Given the description of an element on the screen output the (x, y) to click on. 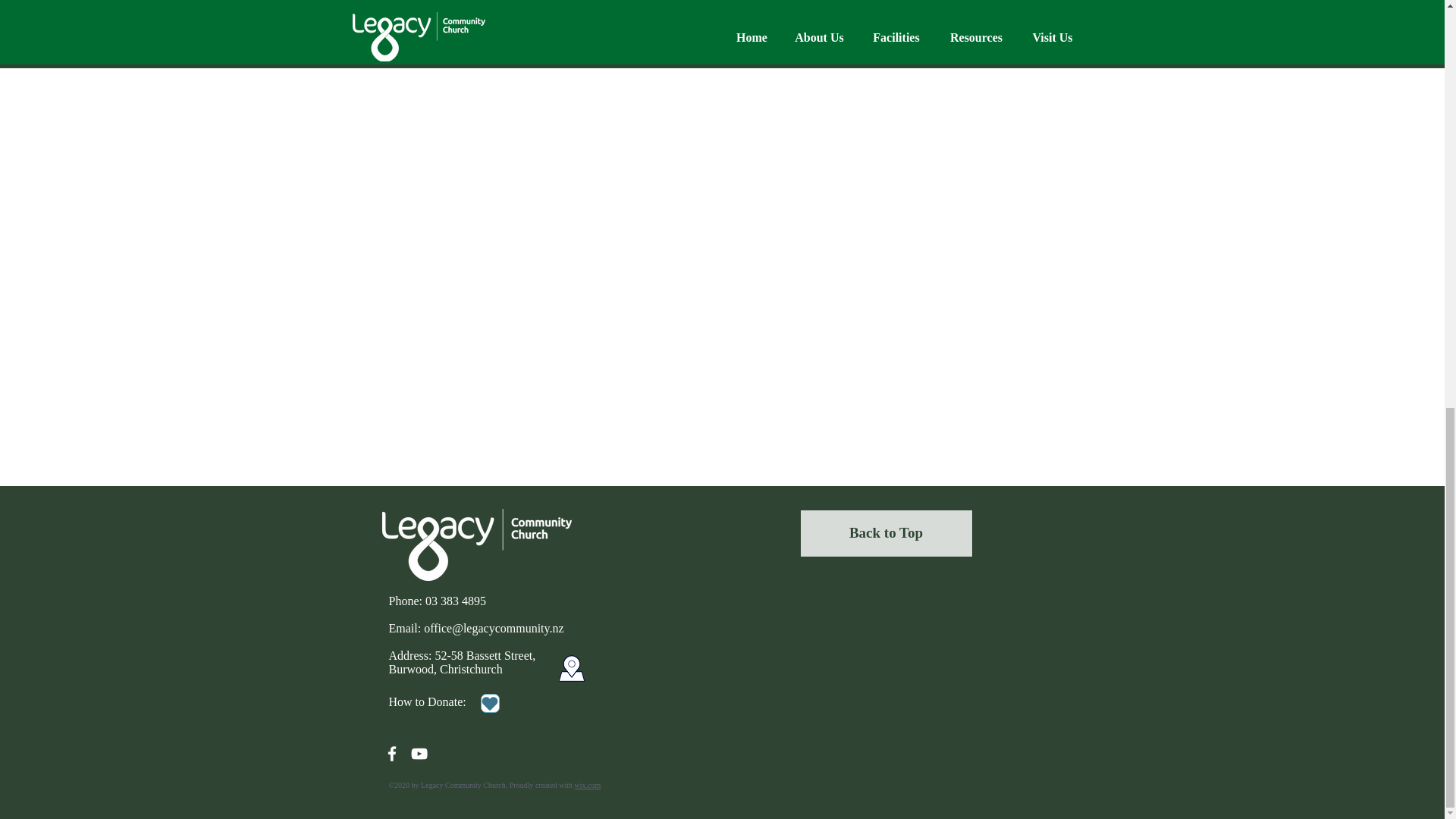
wix.com (588, 785)
Back to Top (886, 532)
a part. (862, 10)
